Given the description of an element on the screen output the (x, y) to click on. 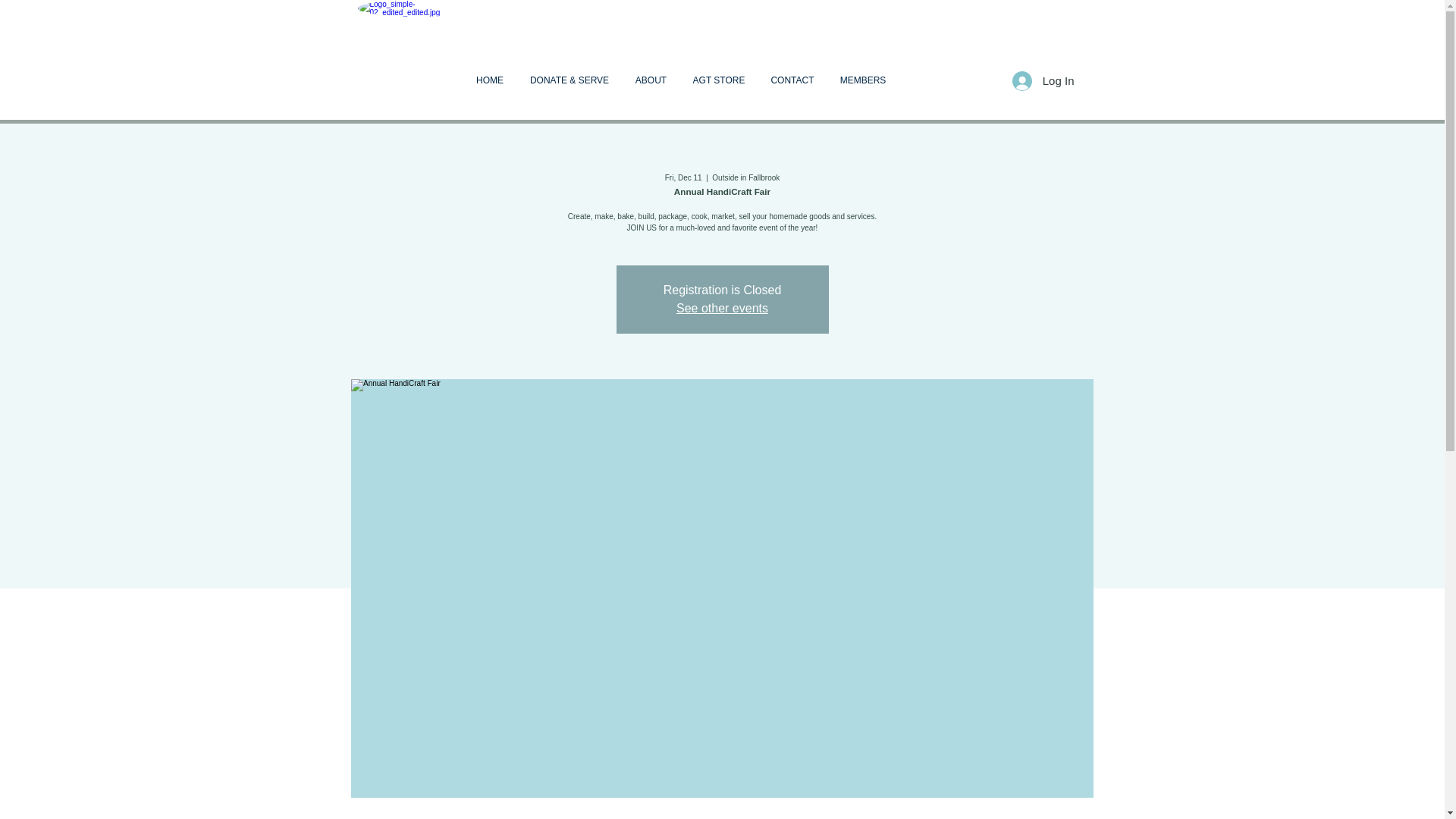
See other events (722, 308)
Log In (1042, 80)
MEMBERS (862, 79)
CONTACT (792, 79)
AGT STORE (718, 79)
HOME (489, 79)
